Given the description of an element on the screen output the (x, y) to click on. 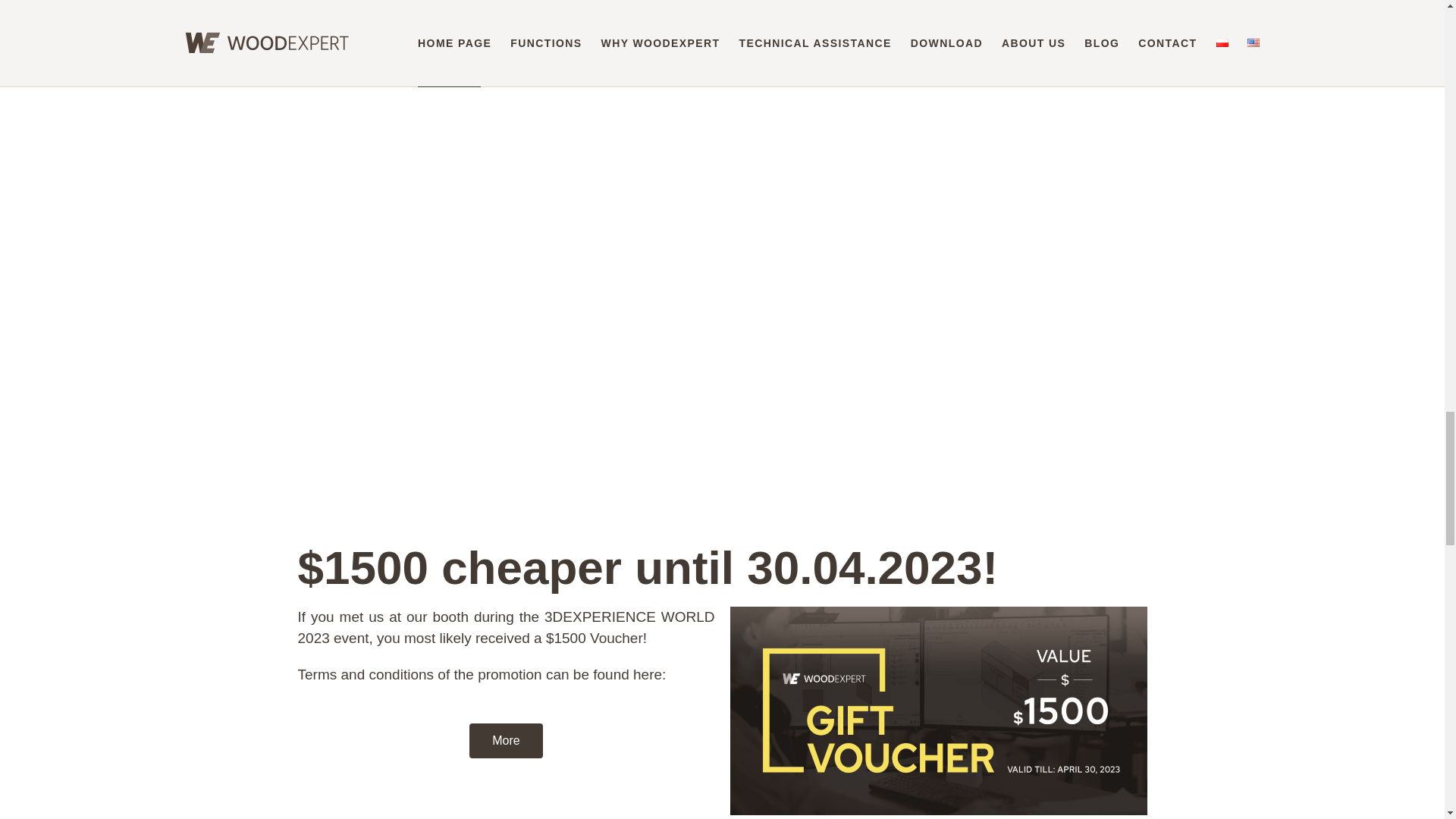
More (504, 740)
